Given the description of an element on the screen output the (x, y) to click on. 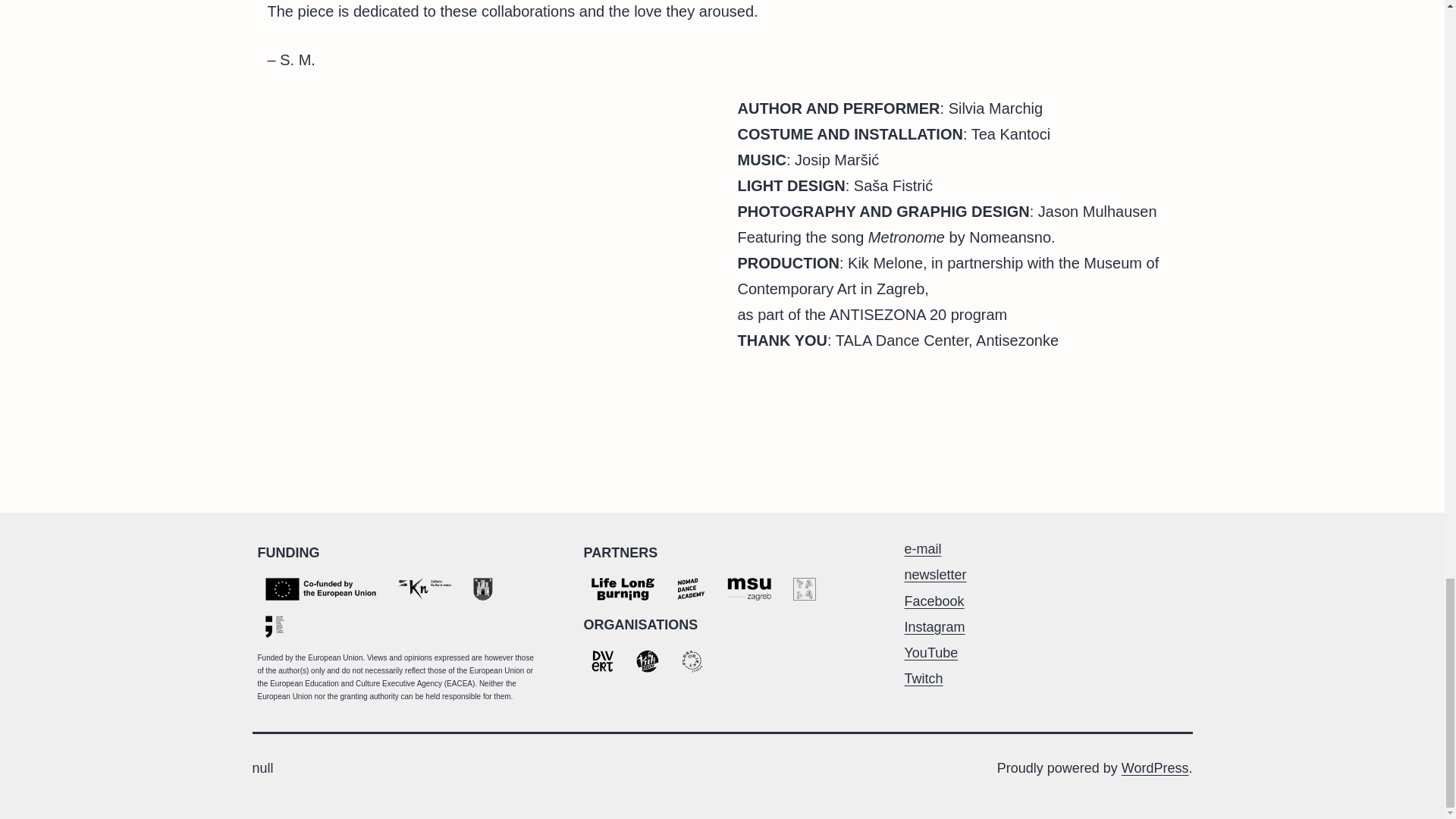
Instagram (933, 626)
Ministry of Culture and Media, Republic of Croatia (275, 627)
Museum of Contemporary Art Zagreb (748, 589)
Divert (602, 661)
Object of Dance (691, 661)
YouTube (931, 652)
Twitch (923, 678)
e-mail (922, 548)
Office for Culture and Civil Society, City of Zagreb (482, 589)
Kultura Nova Foundation (424, 589)
Nomad Dance Academy (690, 588)
WordPress (1155, 767)
Kik Melone (646, 661)
newsletter (935, 574)
Facebook (933, 601)
